Given the description of an element on the screen output the (x, y) to click on. 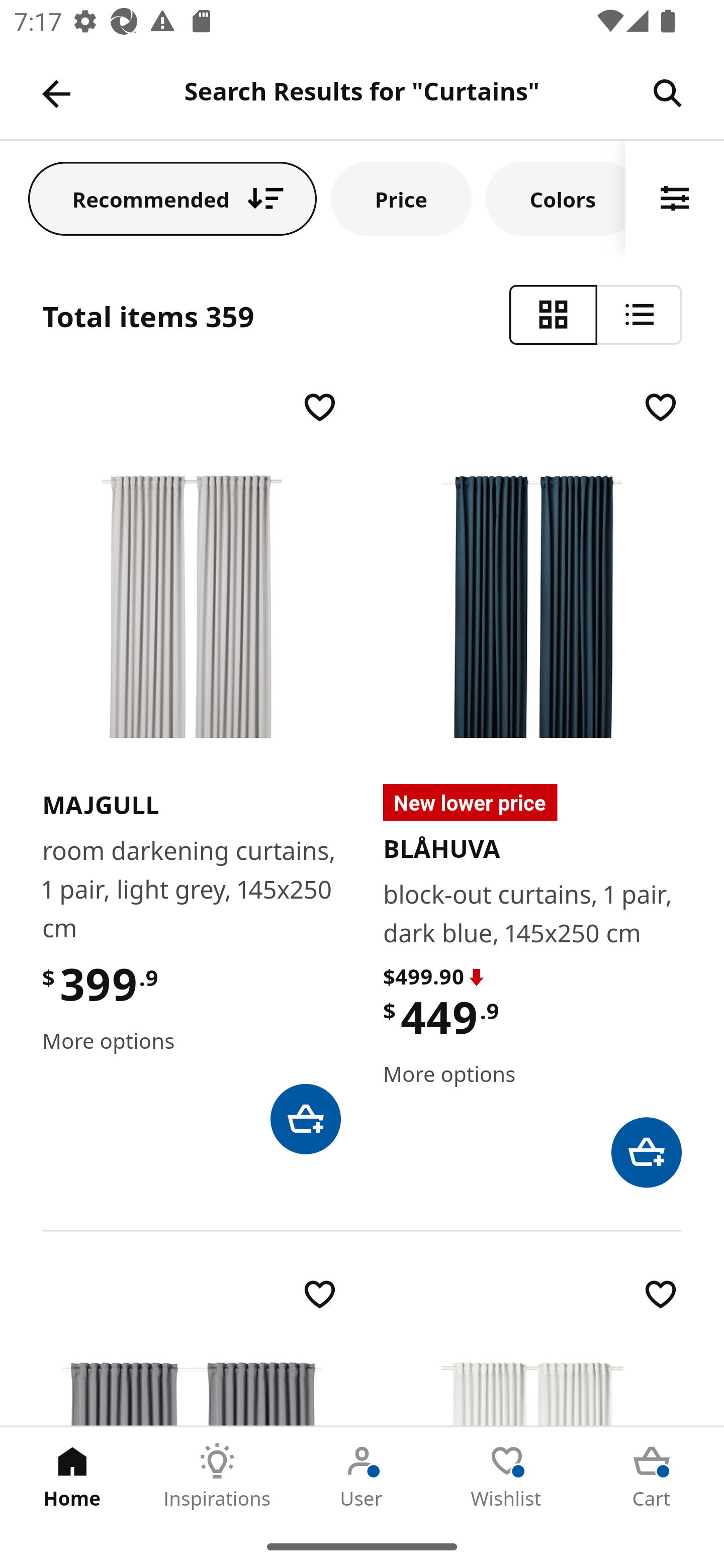
Recommended (172, 198)
Price (400, 198)
Colors (555, 198)
Home
Tab 1 of 5 (72, 1476)
Inspirations
Tab 2 of 5 (216, 1476)
User
Tab 3 of 5 (361, 1476)
Wishlist
Tab 4 of 5 (506, 1476)
Cart
Tab 5 of 5 (651, 1476)
